Given the description of an element on the screen output the (x, y) to click on. 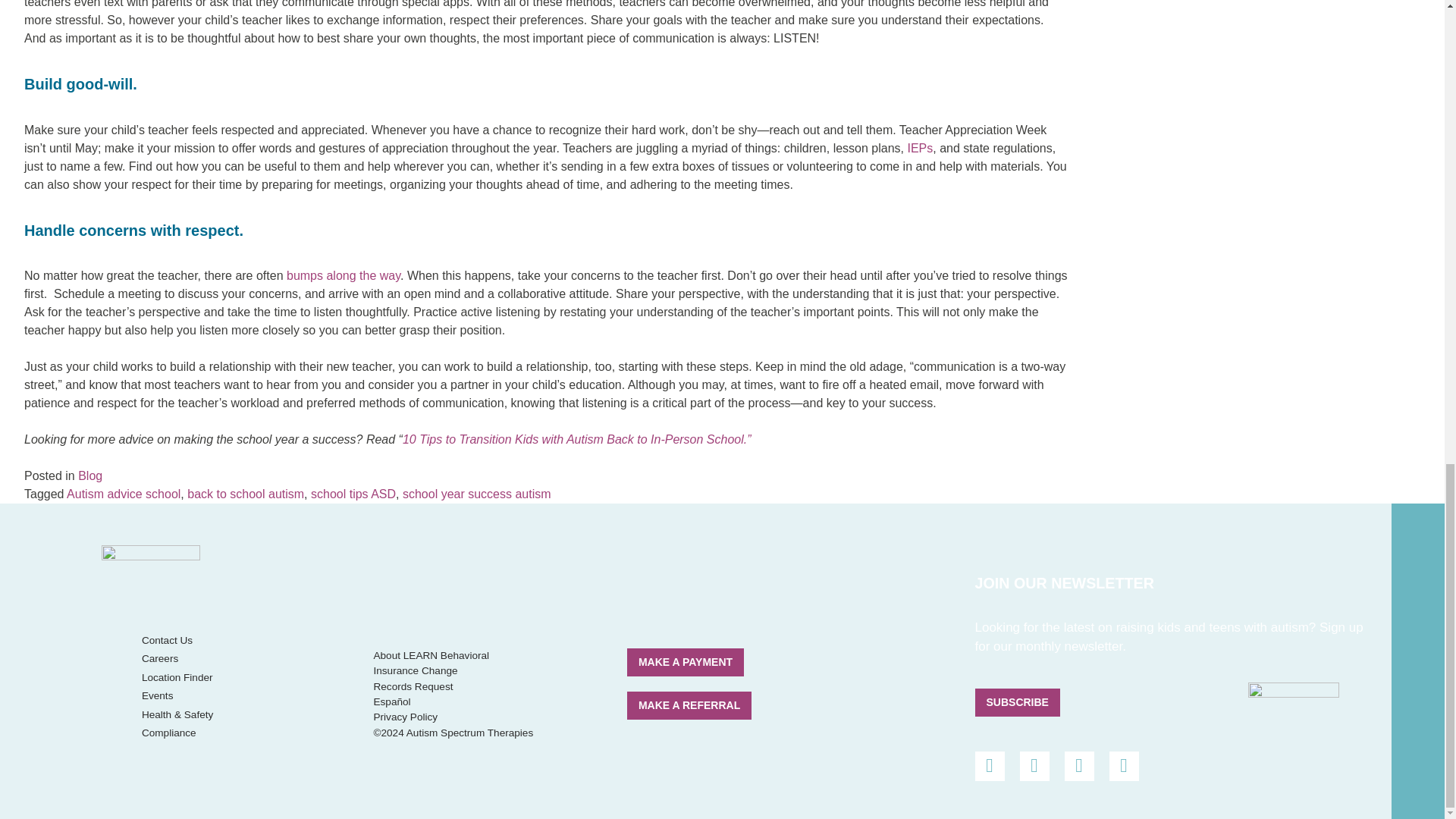
bumps along the way (343, 275)
Careers (159, 658)
IEPs (920, 147)
school tips ASD (353, 493)
Contact Us (166, 640)
school year success autism (477, 493)
back to school autism (245, 493)
Blog (89, 475)
Autism advice school (123, 493)
